Given the description of an element on the screen output the (x, y) to click on. 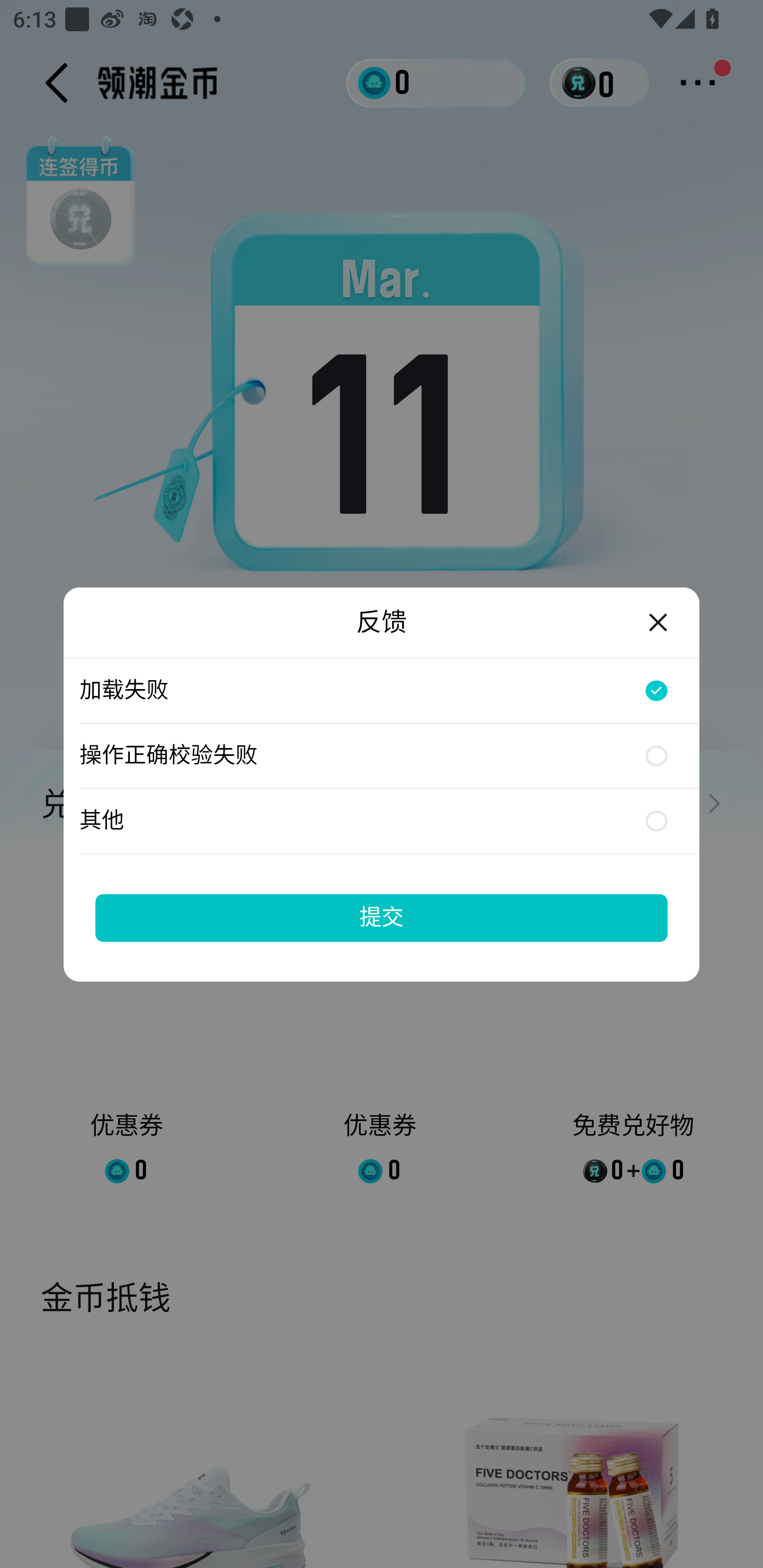
提交 (381, 917)
